Given the description of an element on the screen output the (x, y) to click on. 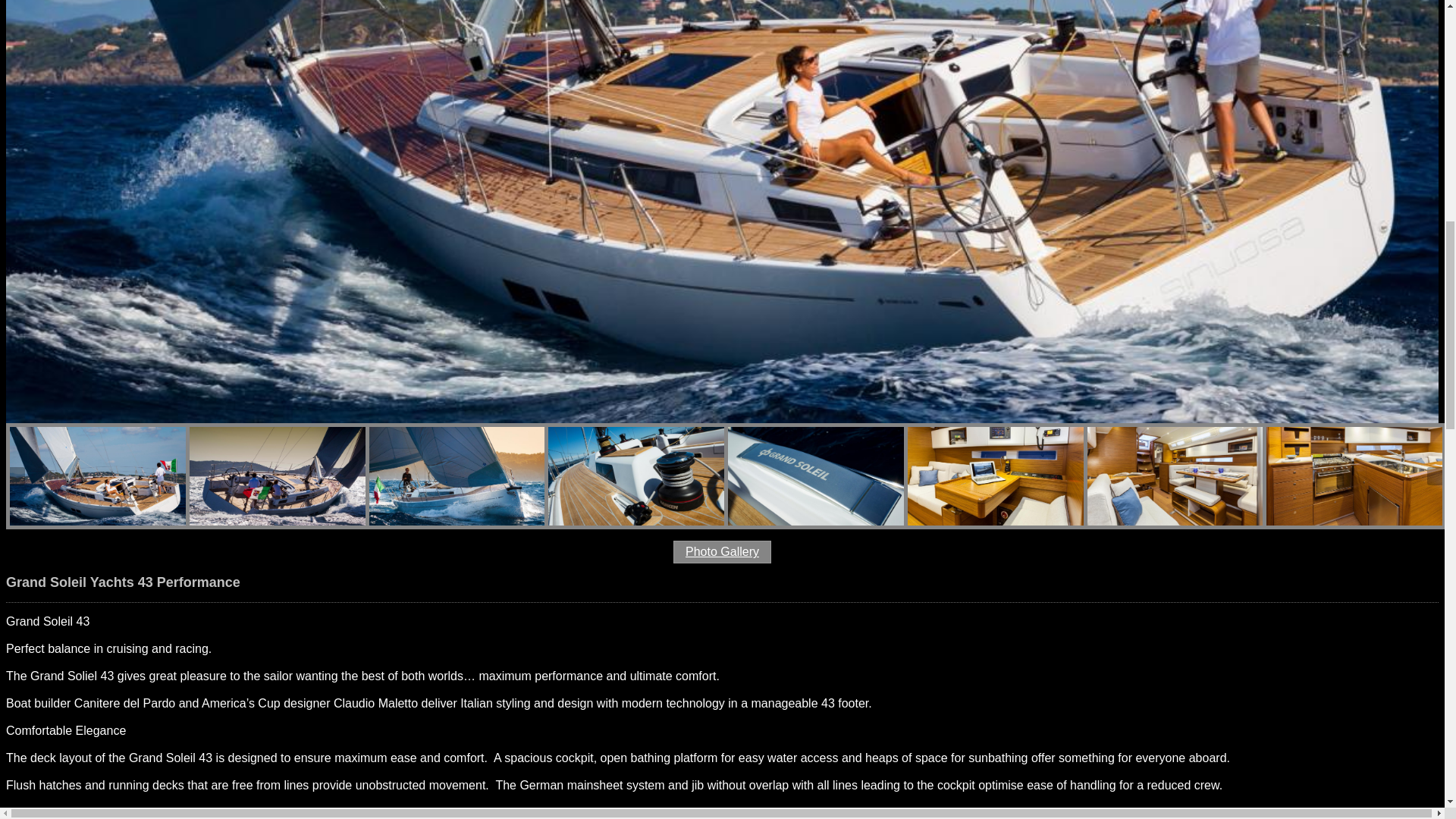
Grand Soleil Yachts 43 Performance (721, 551)
